Given the description of an element on the screen output the (x, y) to click on. 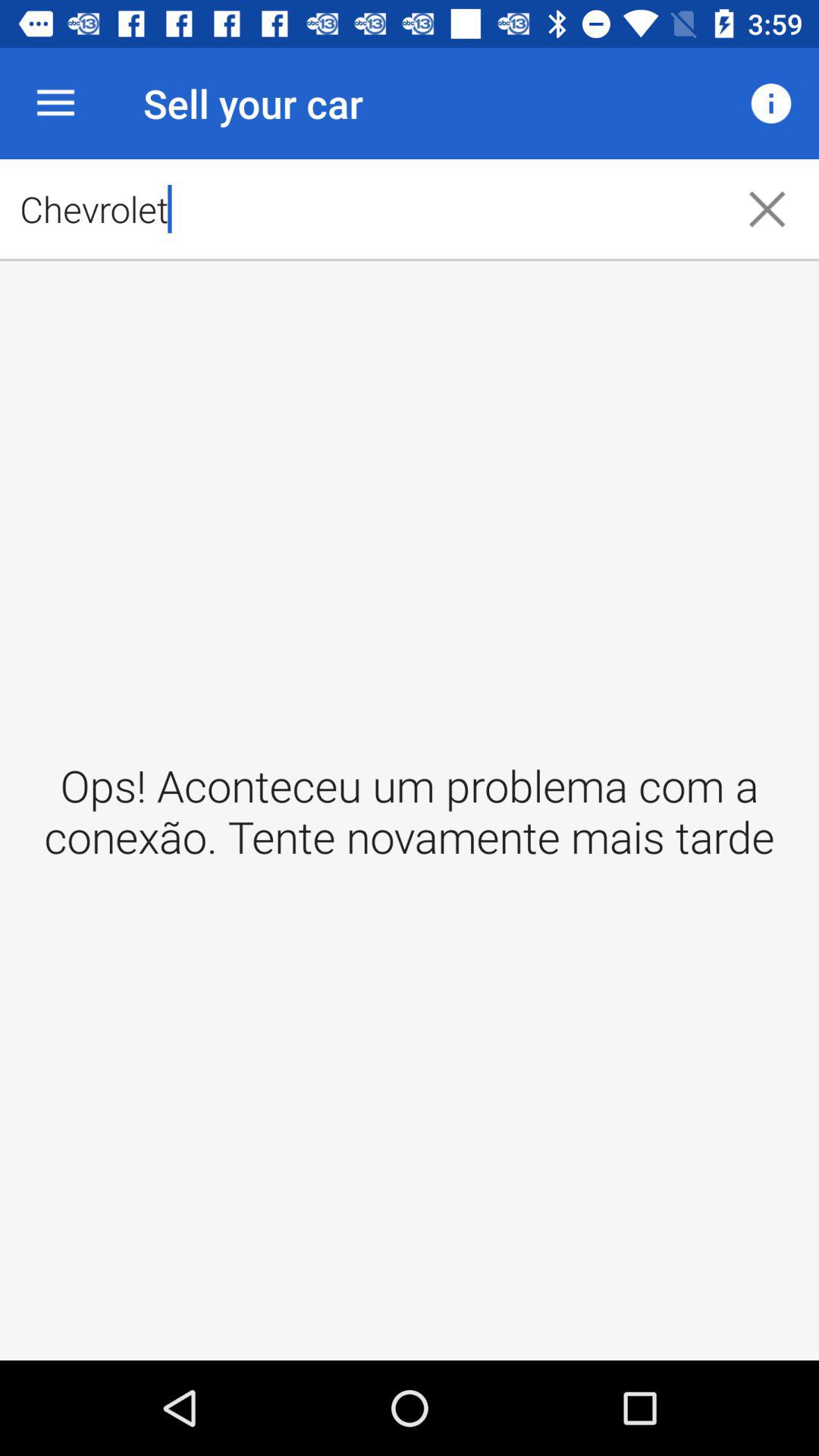
select the icon to the left of sell your car item (55, 103)
